Given the description of an element on the screen output the (x, y) to click on. 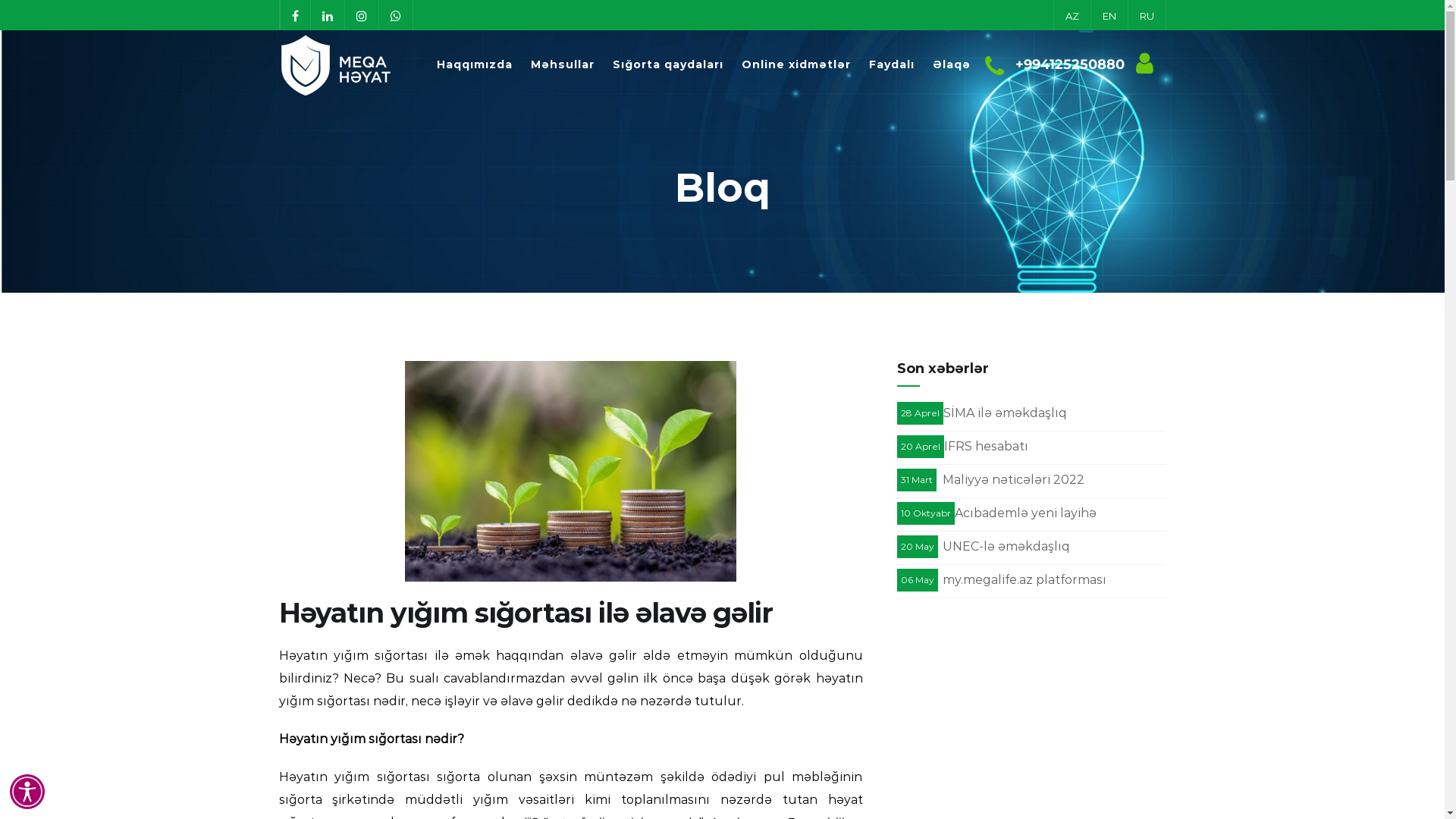
EN Element type: text (1109, 14)
AZ Element type: text (1071, 14)
RU Element type: text (1146, 14)
+994125250880 Element type: text (1068, 64)
